Given the description of an element on the screen output the (x, y) to click on. 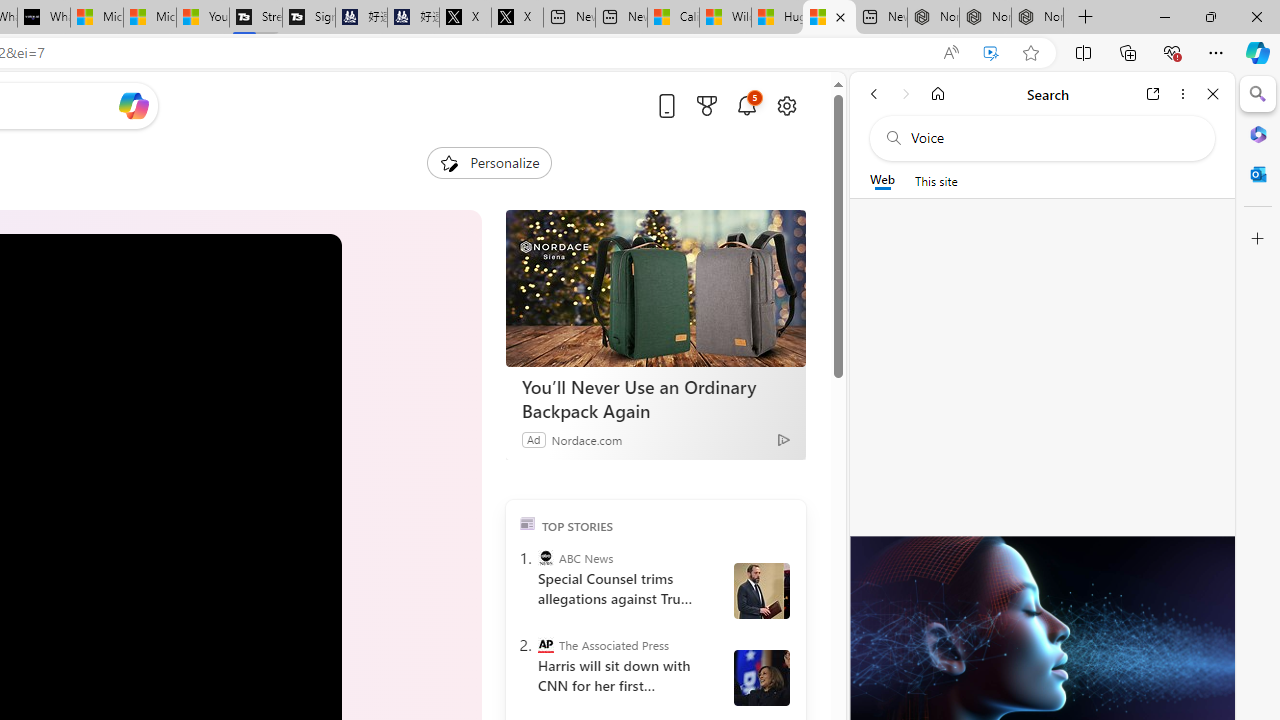
Nordace - Best Sellers (932, 17)
More options (1182, 93)
What's the best AI voice generator? - voice.ai (43, 17)
Nordace Siena Pro 15 Backpack (985, 17)
